Given the description of an element on the screen output the (x, y) to click on. 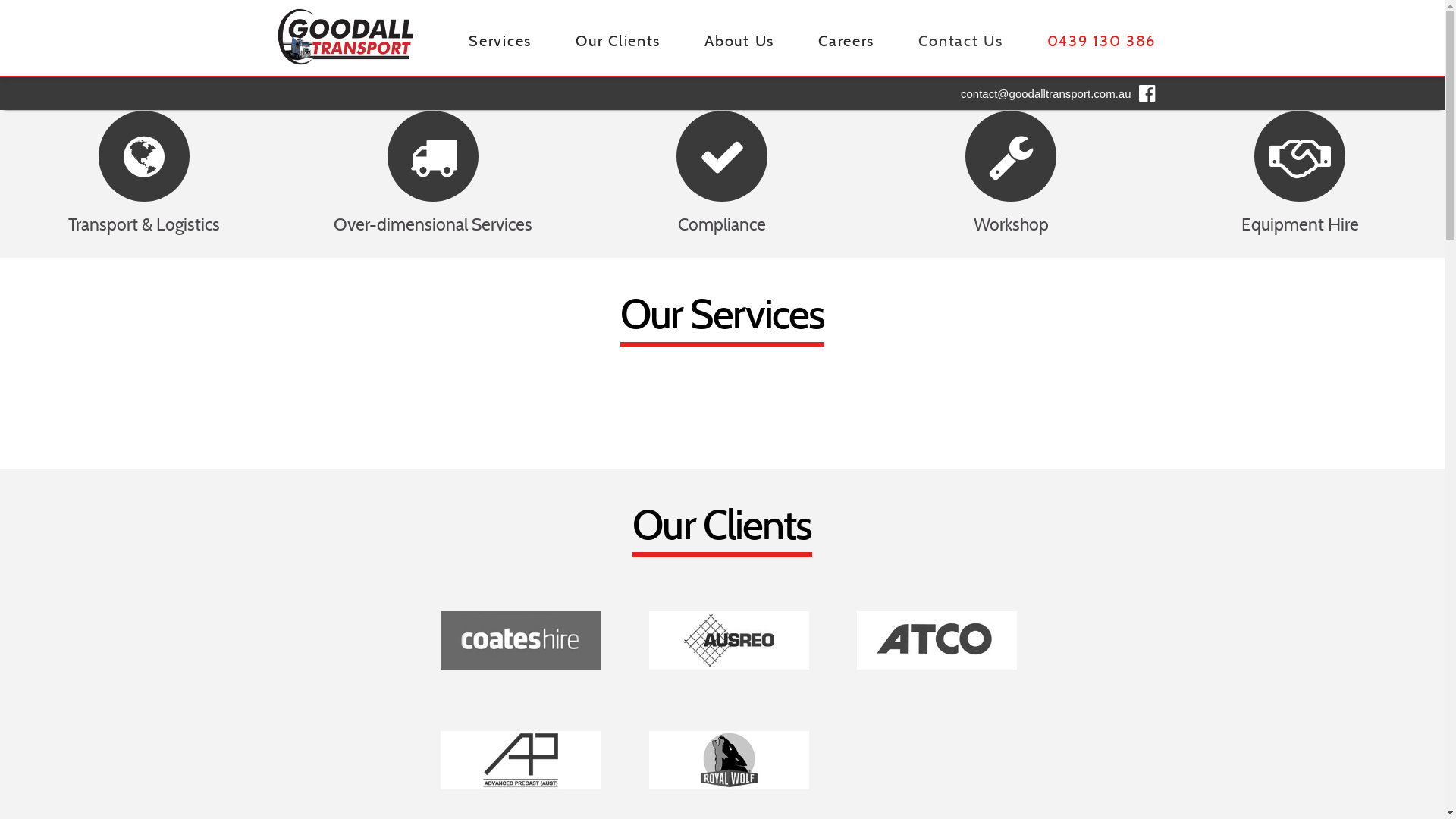
Over-dimensional Services Element type: text (433, 174)
About Us Element type: text (738, 37)
0439 130 386 Element type: text (1101, 37)
Our Clients Element type: text (617, 37)
Contact Us Element type: text (959, 37)
Equipment Hire Element type: text (1300, 174)
Workshop Element type: text (1011, 174)
Transport & Logistics Element type: text (144, 174)
Careers Element type: text (845, 37)
Services Element type: text (499, 37)
Compliance Element type: text (722, 174)
contact@goodalltransport.com.au Element type: text (1045, 93)
